Given the description of an element on the screen output the (x, y) to click on. 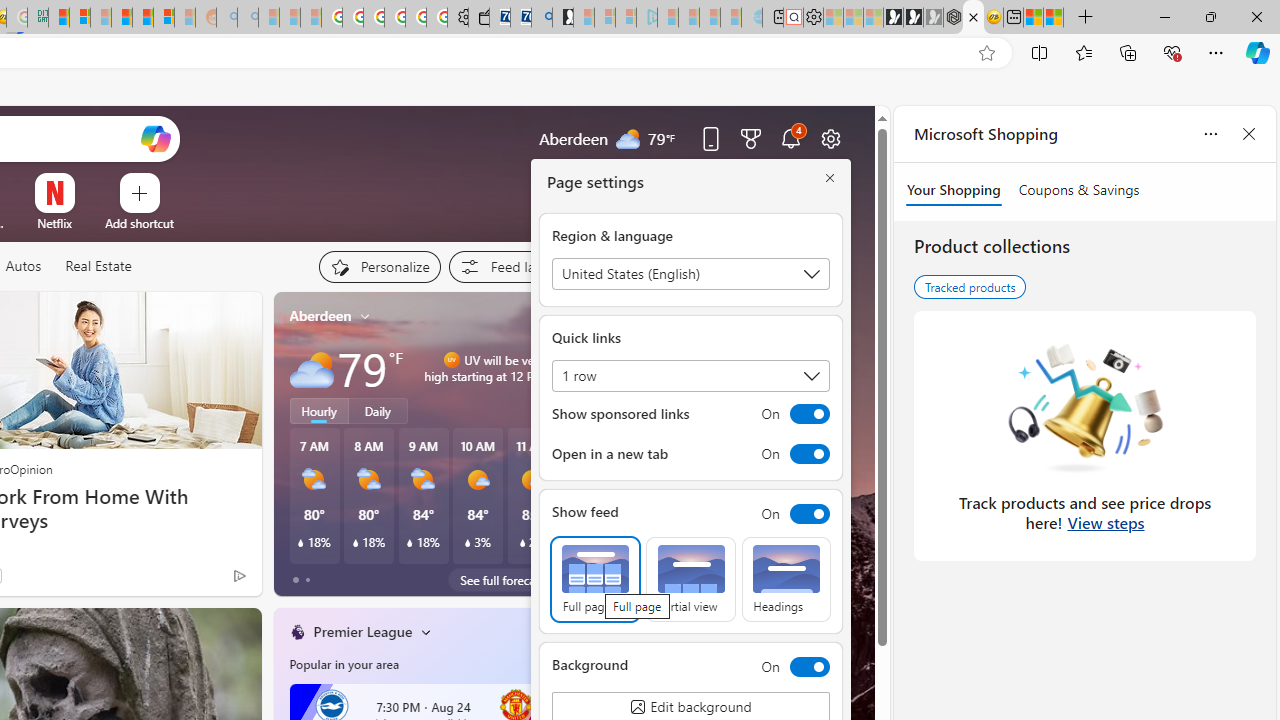
Autos (22, 265)
Open in a new tab On (690, 453)
Netflix (54, 223)
More interests (426, 631)
Add a site (139, 223)
Microsoft Start Gaming (563, 17)
Headings (786, 579)
DITOGAMES AG Imprint (38, 17)
